Given the description of an element on the screen output the (x, y) to click on. 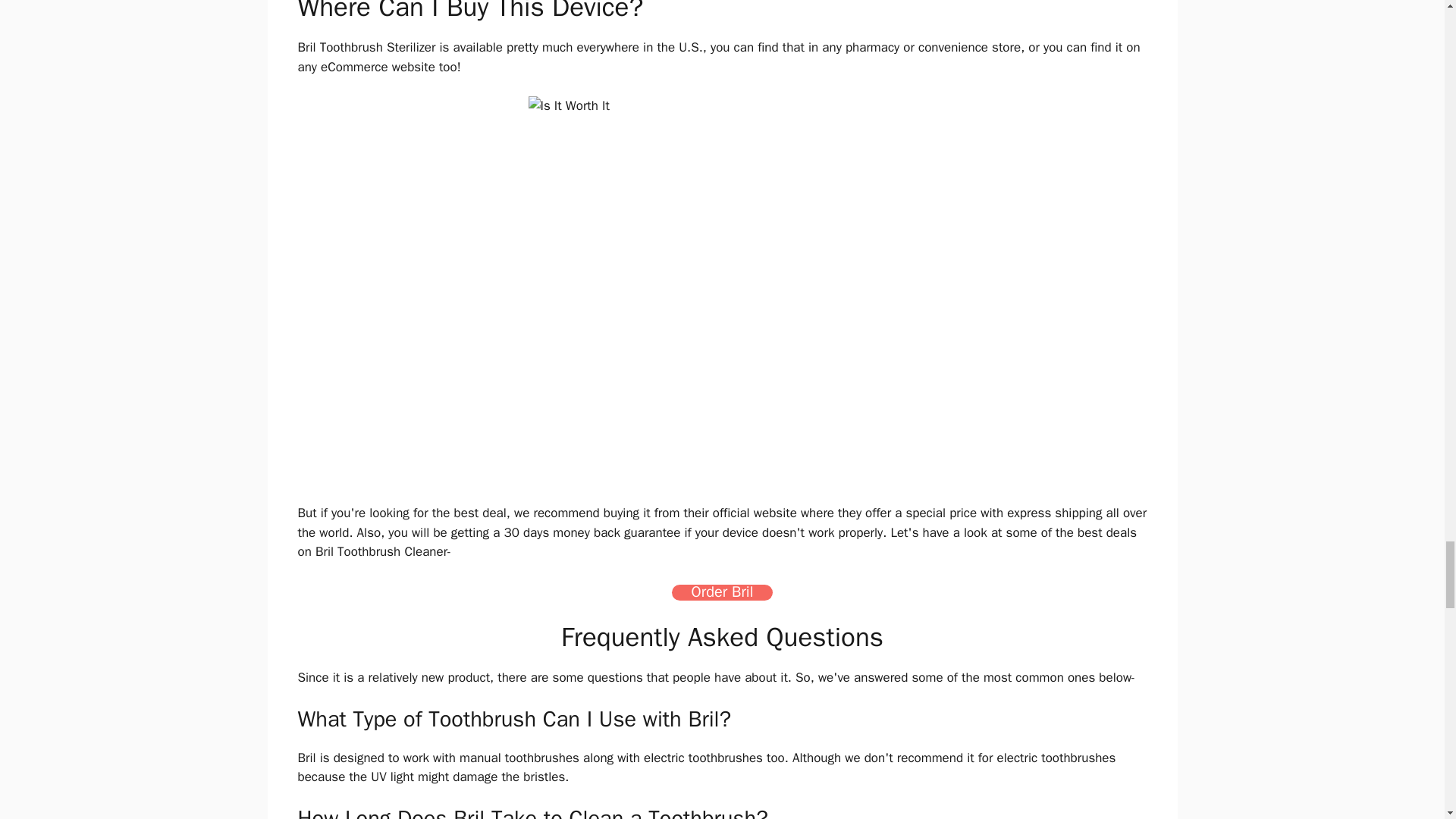
Order Bril (722, 592)
